Given the description of an element on the screen output the (x, y) to click on. 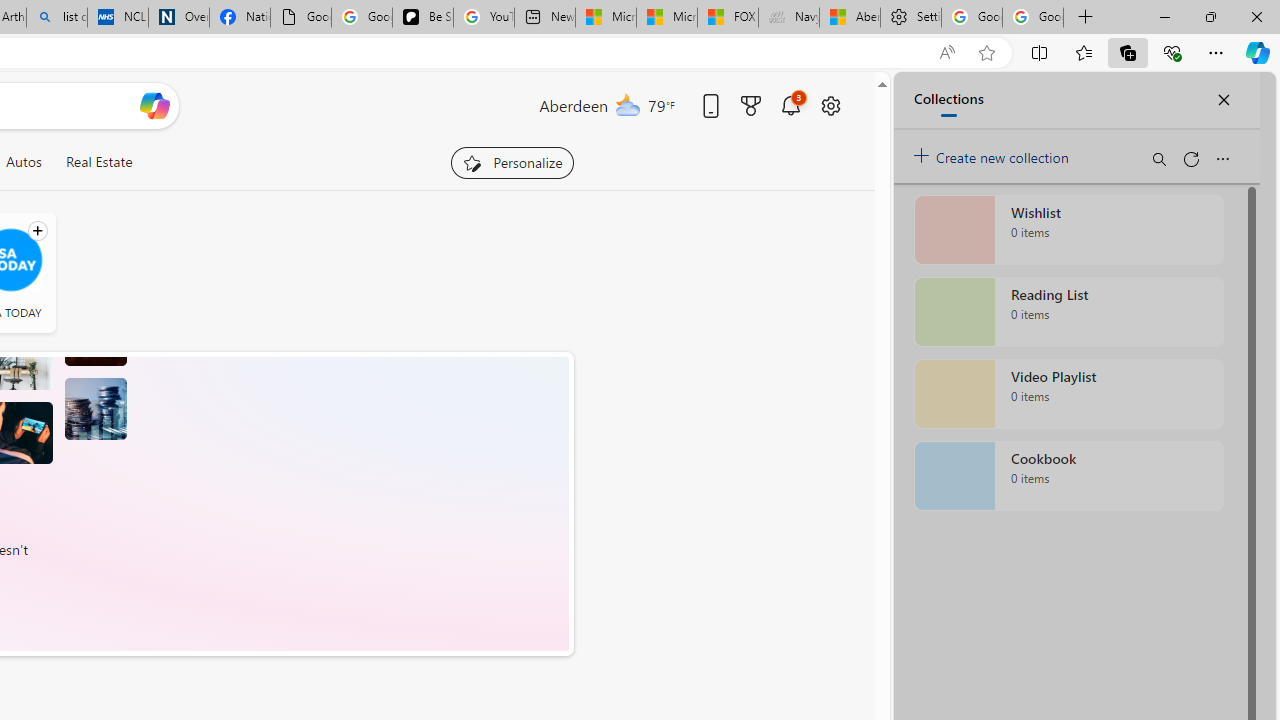
Mostly cloudy (628, 104)
Follow channel (37, 231)
Open Copilot (155, 105)
Open settings (830, 105)
FOX News - MSN (727, 17)
Favorites (1083, 52)
list of asthma inhalers uk - Search (56, 17)
Autos (23, 161)
